Given the description of an element on the screen output the (x, y) to click on. 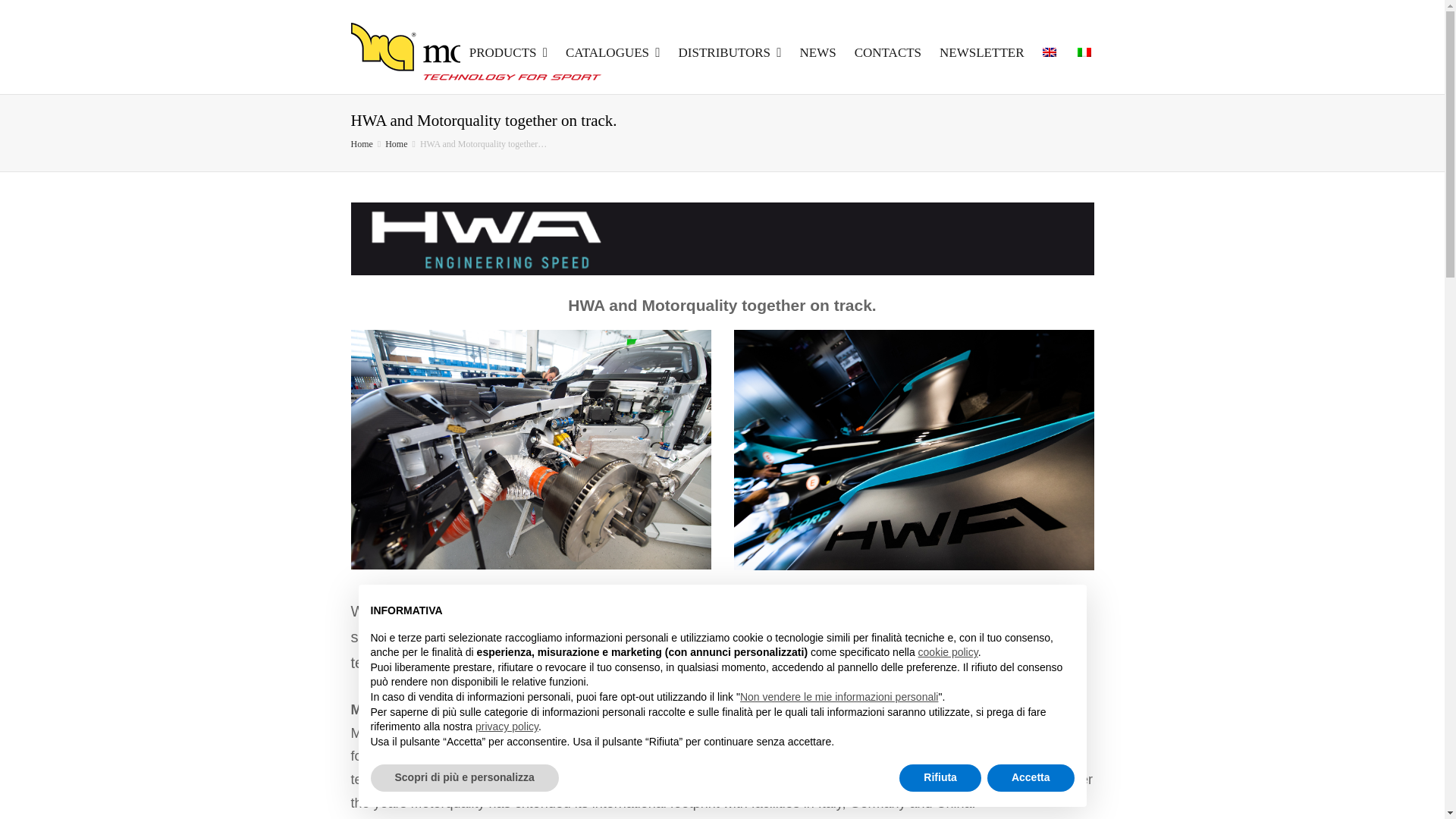
CONTACTS (887, 53)
NEWS (817, 53)
Home (396, 143)
MQ AUTO (477, 52)
PRODUCTS (508, 53)
Home (396, 143)
MQ AUTO (361, 143)
English (1048, 51)
CATALOGUES (612, 53)
Italiano (1083, 51)
NEWSLETTER (981, 53)
Home (361, 143)
DISTRIBUTORS (729, 53)
